Given the description of an element on the screen output the (x, y) to click on. 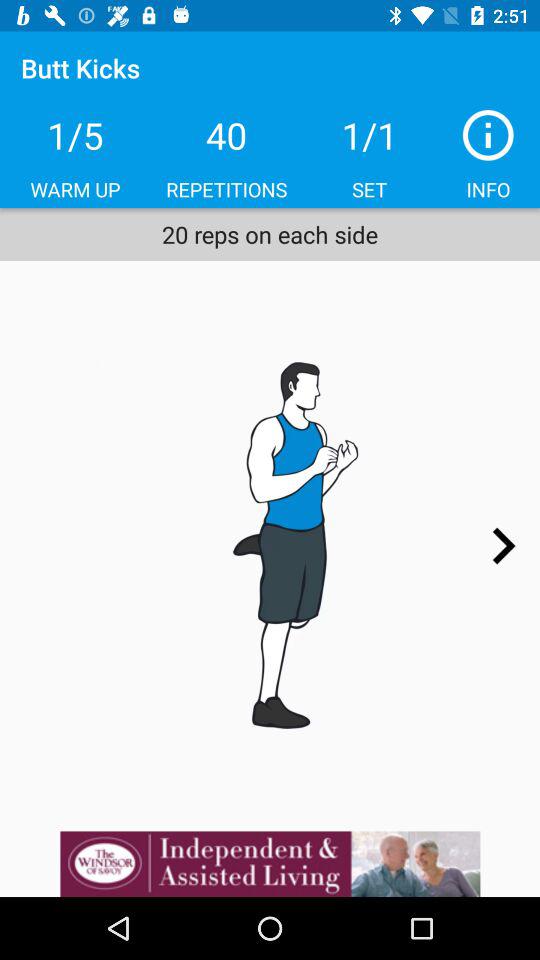
fight (269, 545)
